Given the description of an element on the screen output the (x, y) to click on. 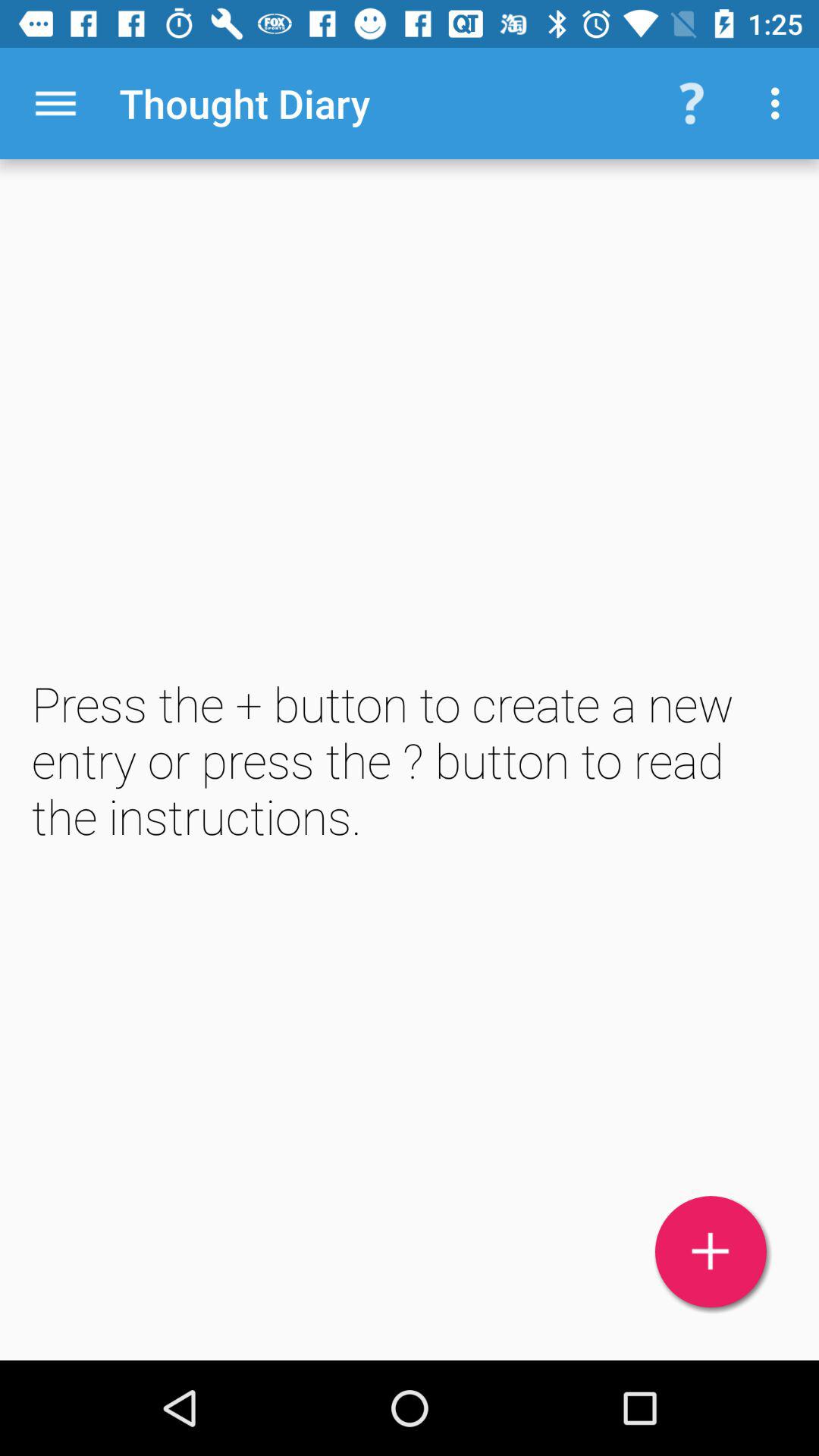
open item below press the button icon (710, 1251)
